Given the description of an element on the screen output the (x, y) to click on. 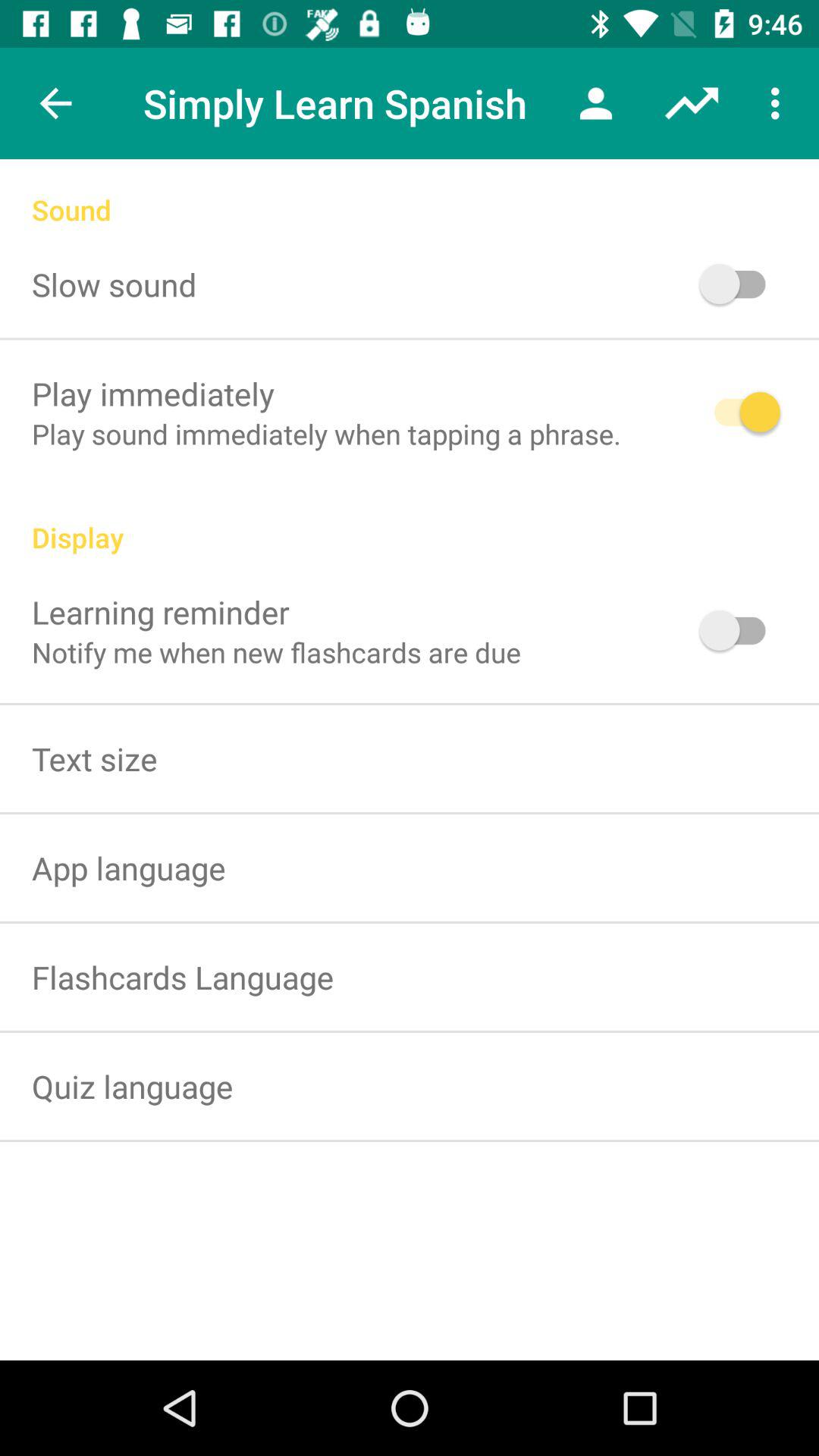
click item next to the simply learn spanish (595, 103)
